Given the description of an element on the screen output the (x, y) to click on. 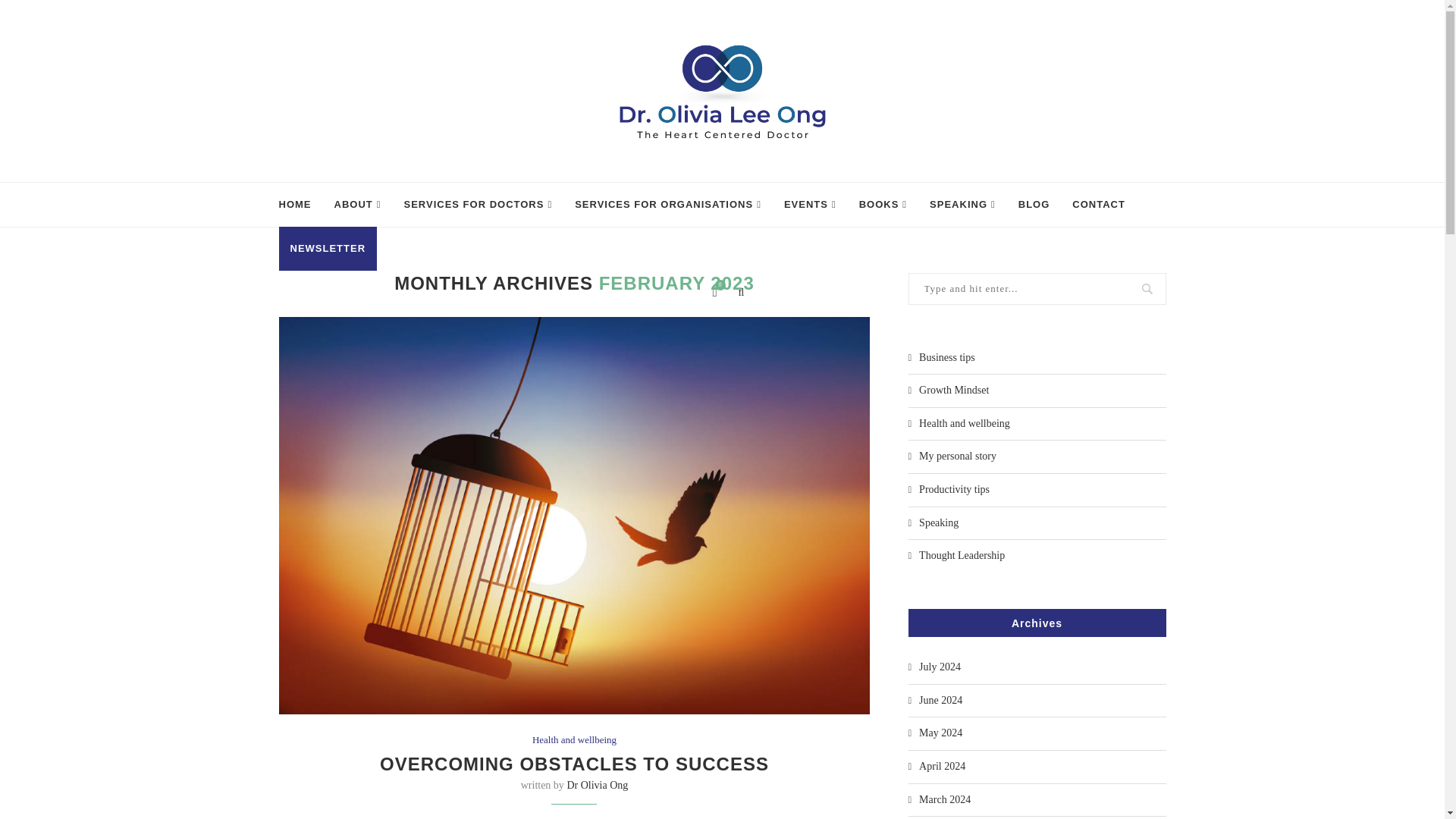
ABOUT (356, 203)
SERVICES FOR DOCTORS (477, 203)
